Given the description of an element on the screen output the (x, y) to click on. 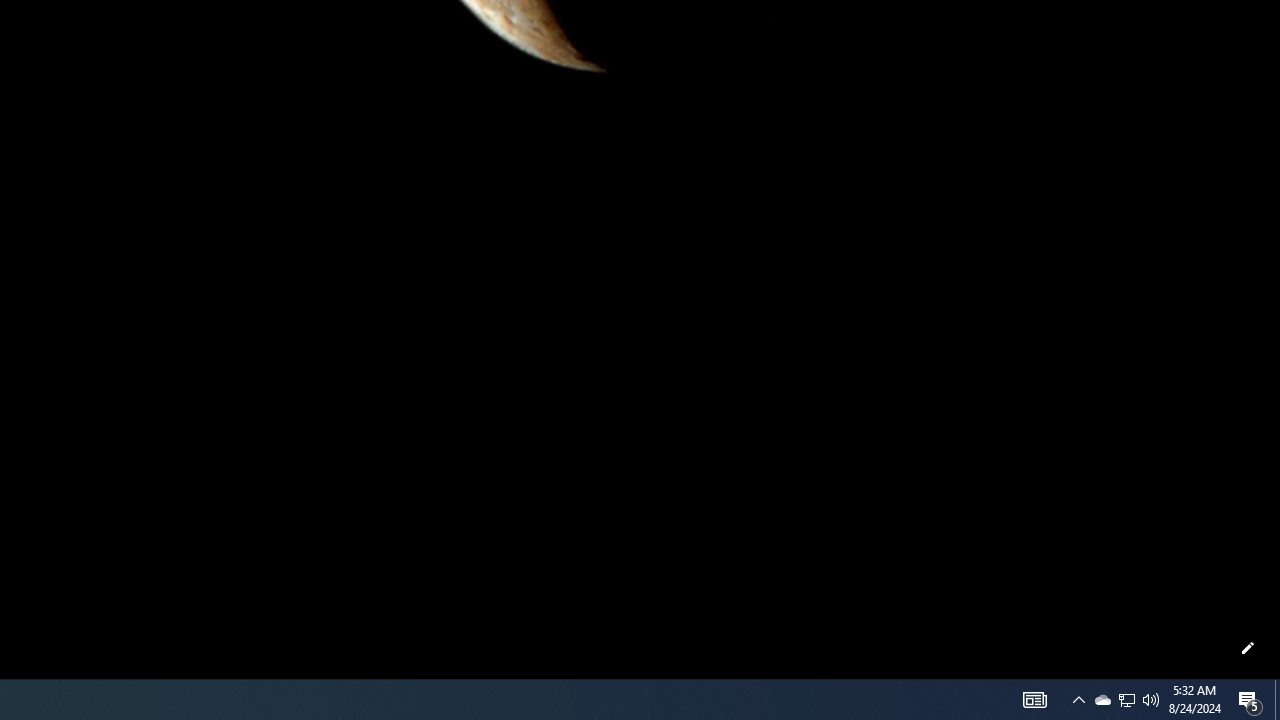
Customize this page (1247, 647)
